Given the description of an element on the screen output the (x, y) to click on. 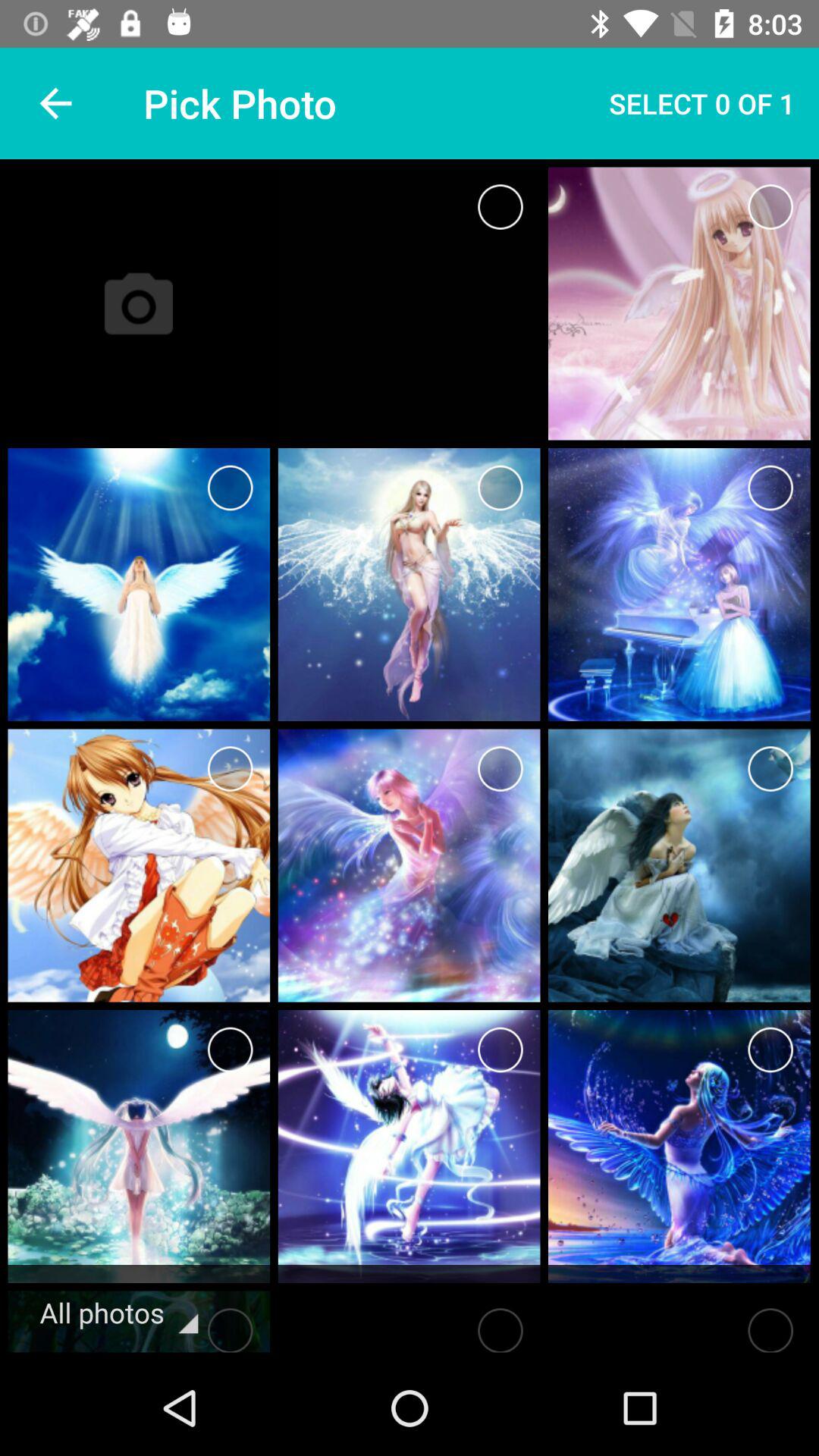
choose picture (770, 1325)
